Given the description of an element on the screen output the (x, y) to click on. 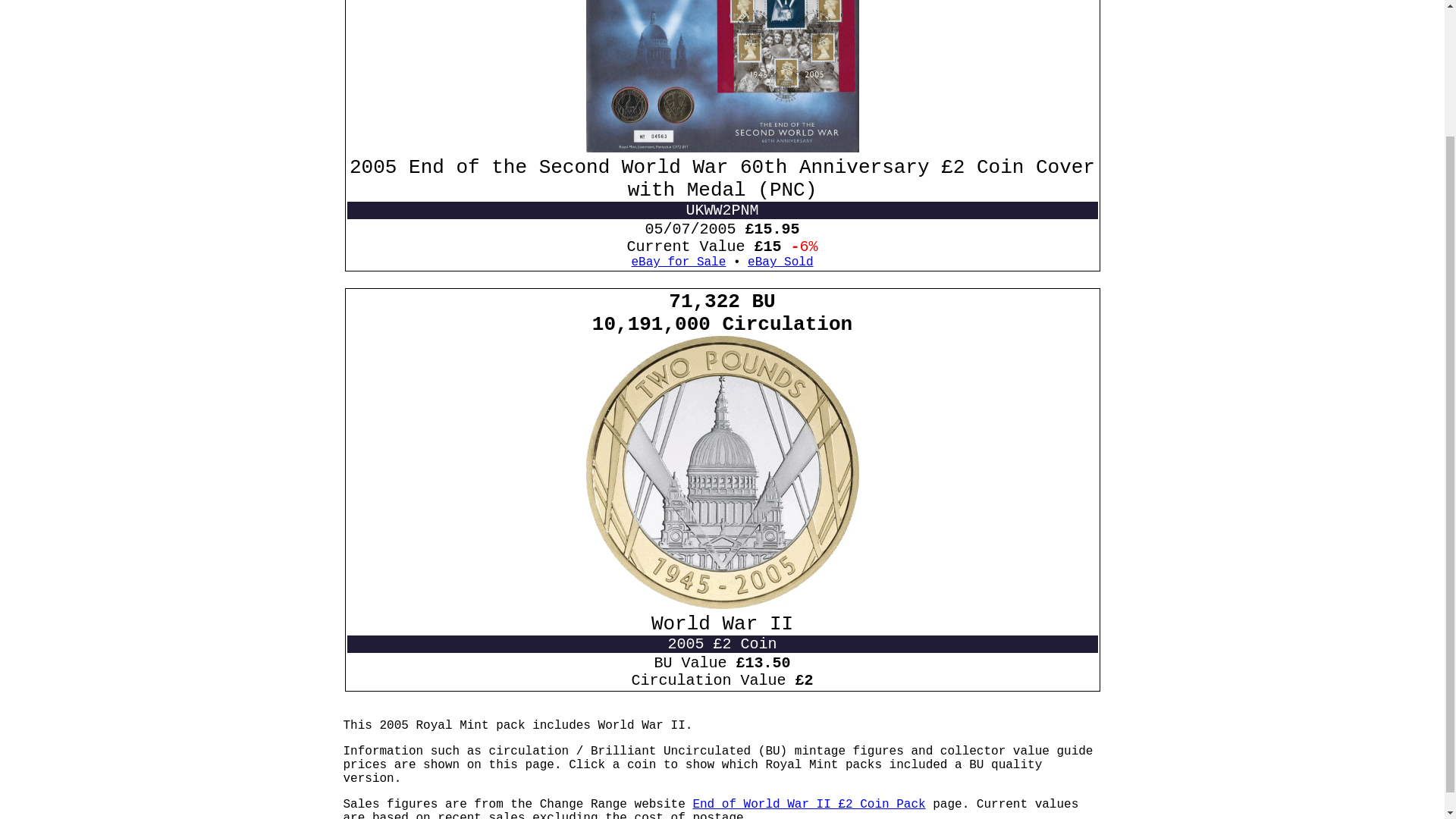
eBay Sold (780, 262)
eBay for Sale (677, 262)
